Given the description of an element on the screen output the (x, y) to click on. 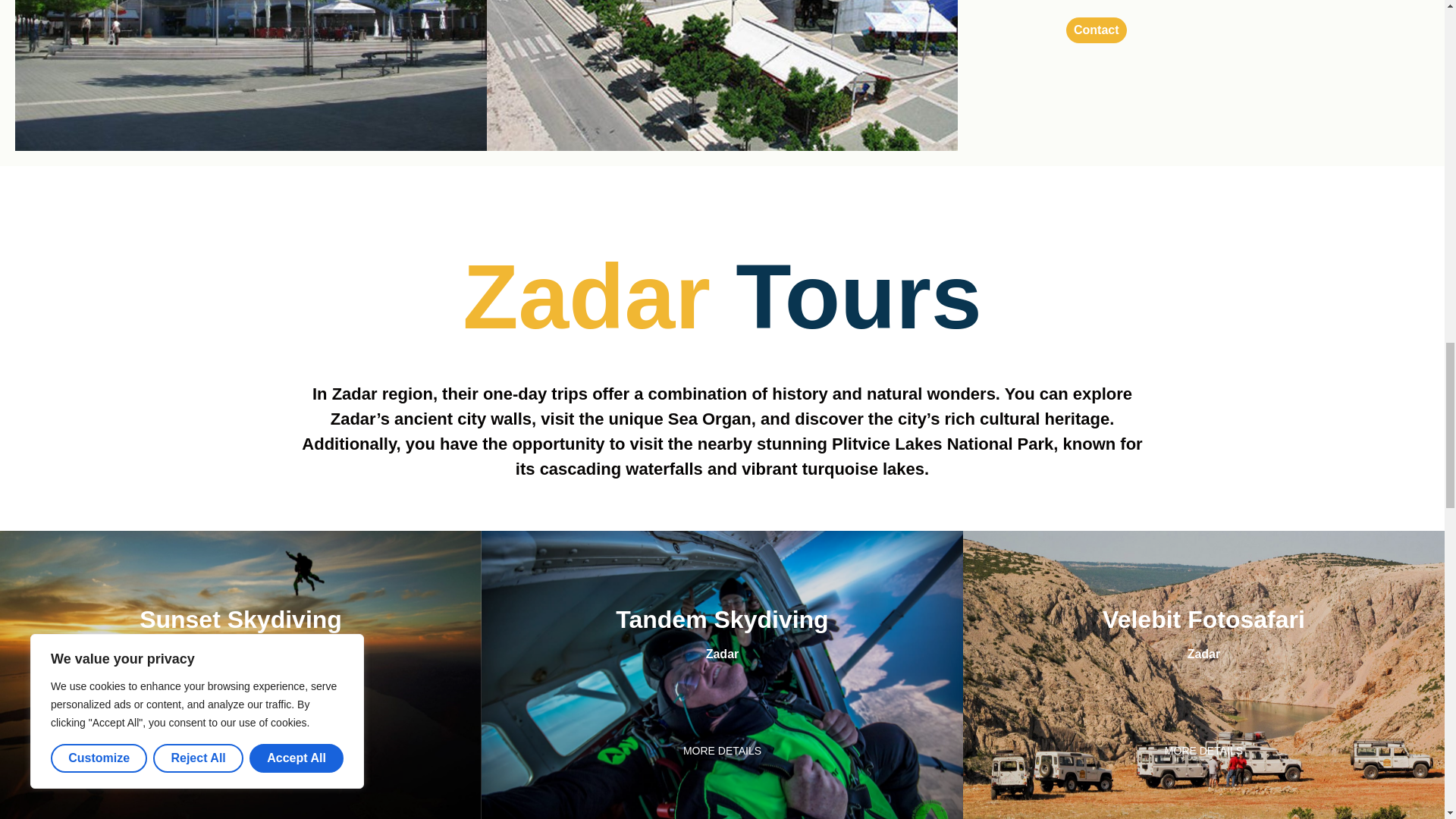
MORE DETAILS (1203, 750)
MORE DETAILS (721, 750)
MORE DETAILS (239, 750)
